Given the description of an element on the screen output the (x, y) to click on. 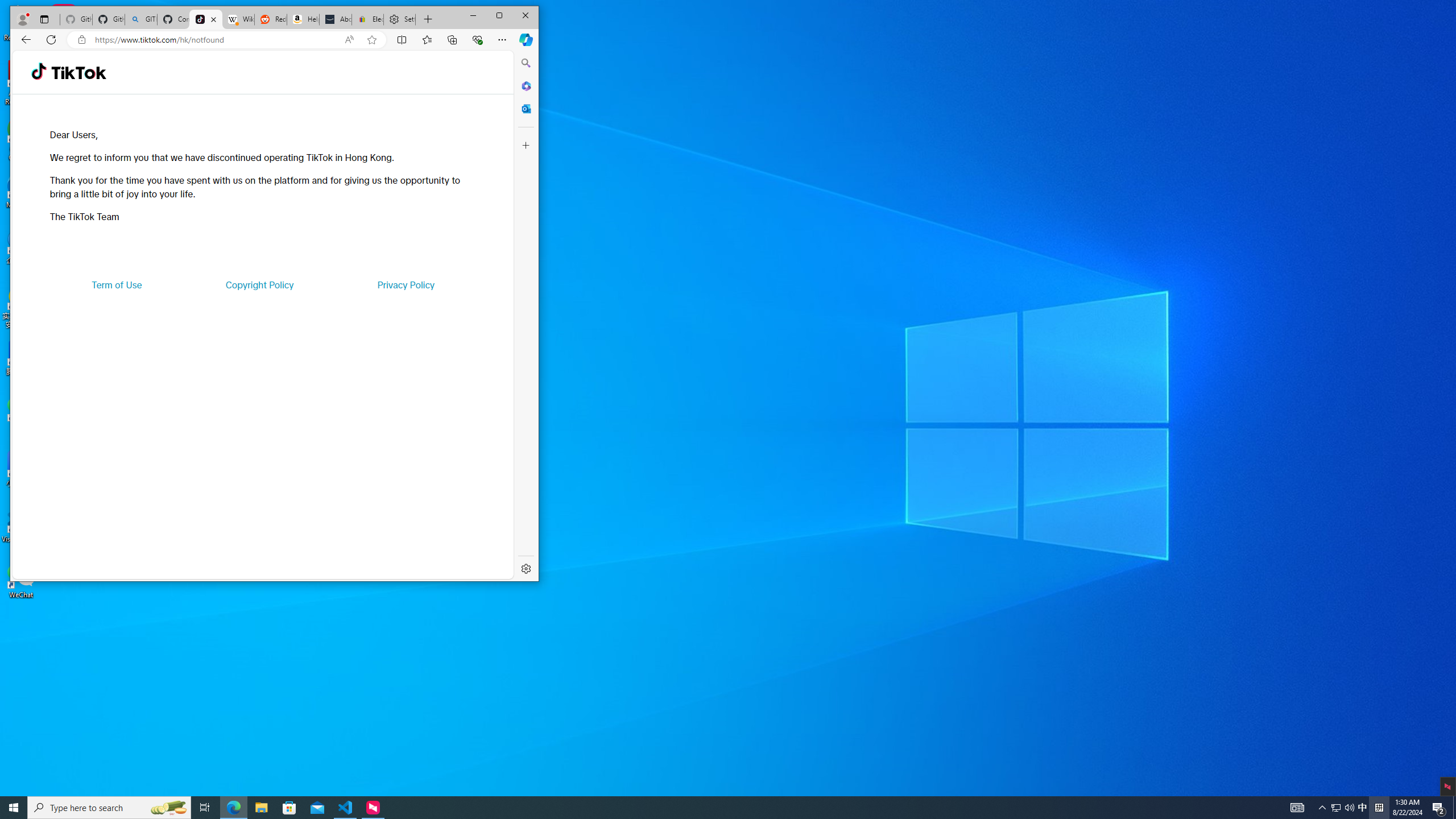
Tray Input Indicator - Chinese (Simplified, China) (1378, 807)
Start (13, 807)
Action Center, 2 new notifications (1439, 807)
Search highlights icon opens search home window (167, 807)
Q2790: 100% (1349, 807)
Visual Studio Code - 1 running window (345, 807)
Show desktop (1454, 807)
